Given the description of an element on the screen output the (x, y) to click on. 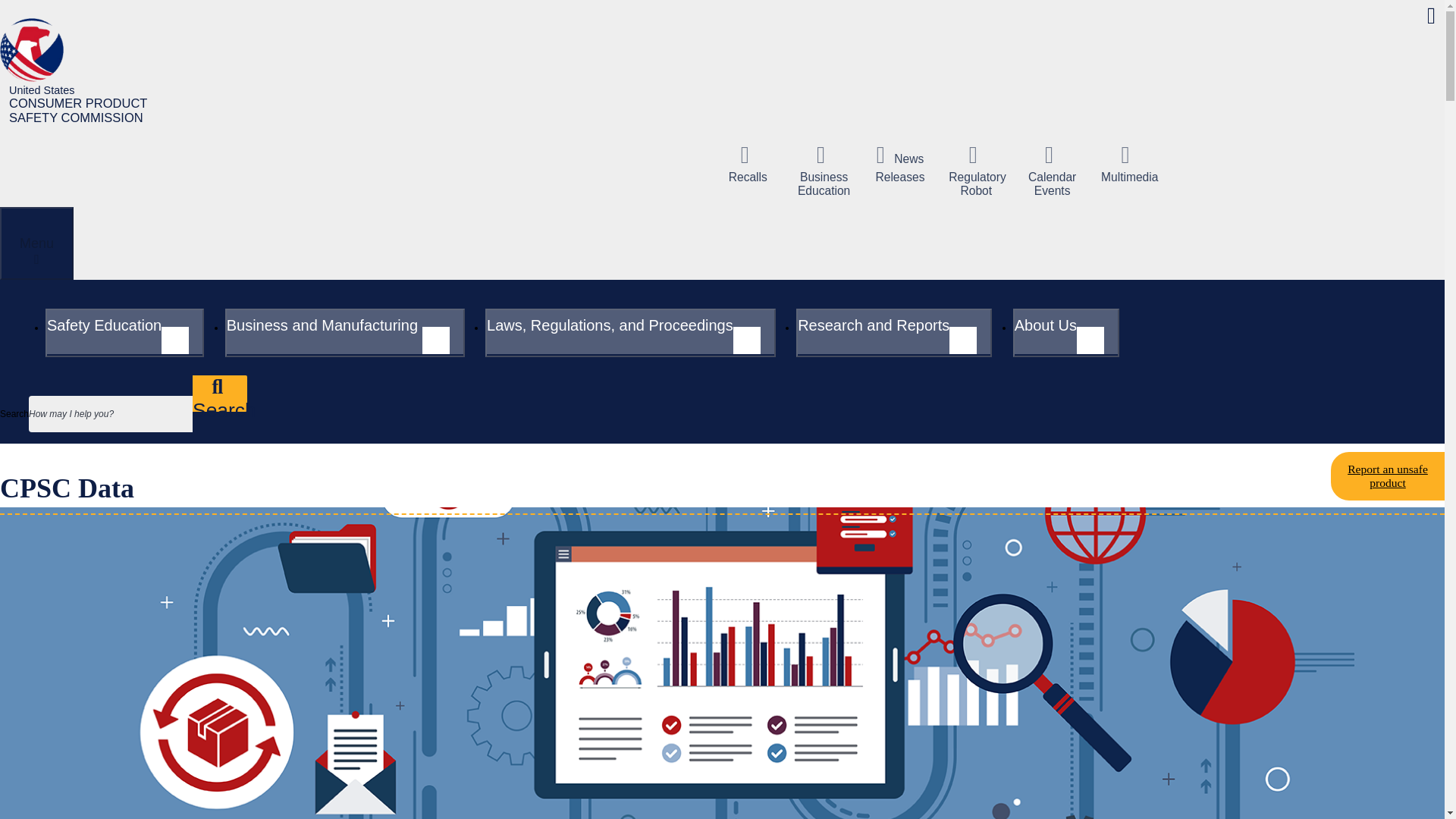
  Calendar Events (1052, 170)
  Multimedia (1128, 163)
News Releases (899, 163)
Safety Education (124, 332)
  News Releases (899, 163)
Business Education (823, 170)
Regulatory Robot (975, 170)
Multimedia (1128, 163)
  Business Education (823, 170)
Laws, Regulations, and Proceedings (630, 332)
  Recalls (747, 163)
Business and Manufacturing (344, 332)
 Search (219, 393)
CPSC home (81, 71)
